Given the description of an element on the screen output the (x, y) to click on. 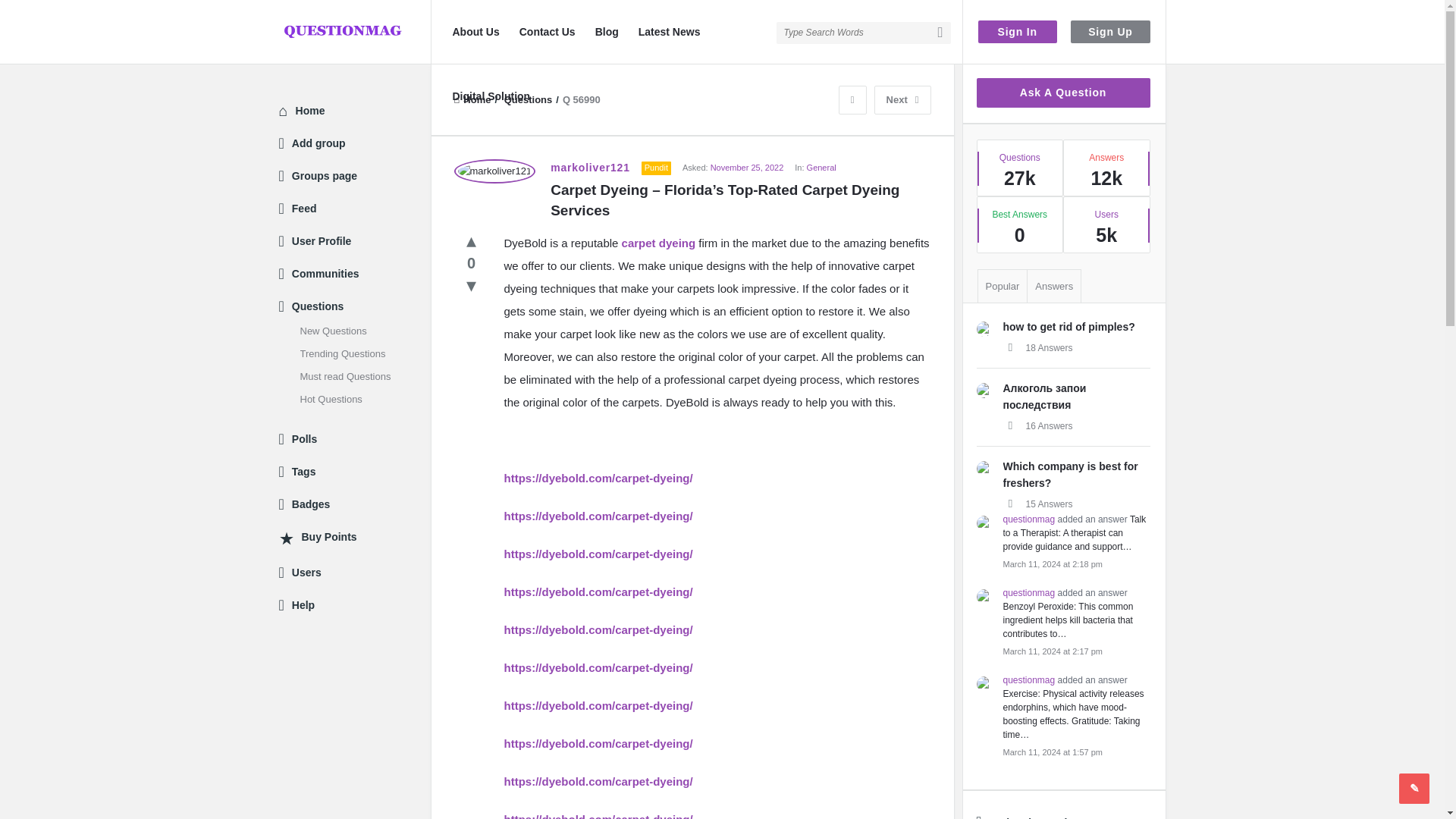
markoliver121 (494, 170)
Sign Up (1110, 31)
Sign In (1017, 31)
About Us (475, 32)
Questions (528, 99)
Latest News (668, 32)
Home (471, 99)
QuestionMag (343, 32)
QuestionMag (354, 32)
Contact Us (546, 32)
